Given the description of an element on the screen output the (x, y) to click on. 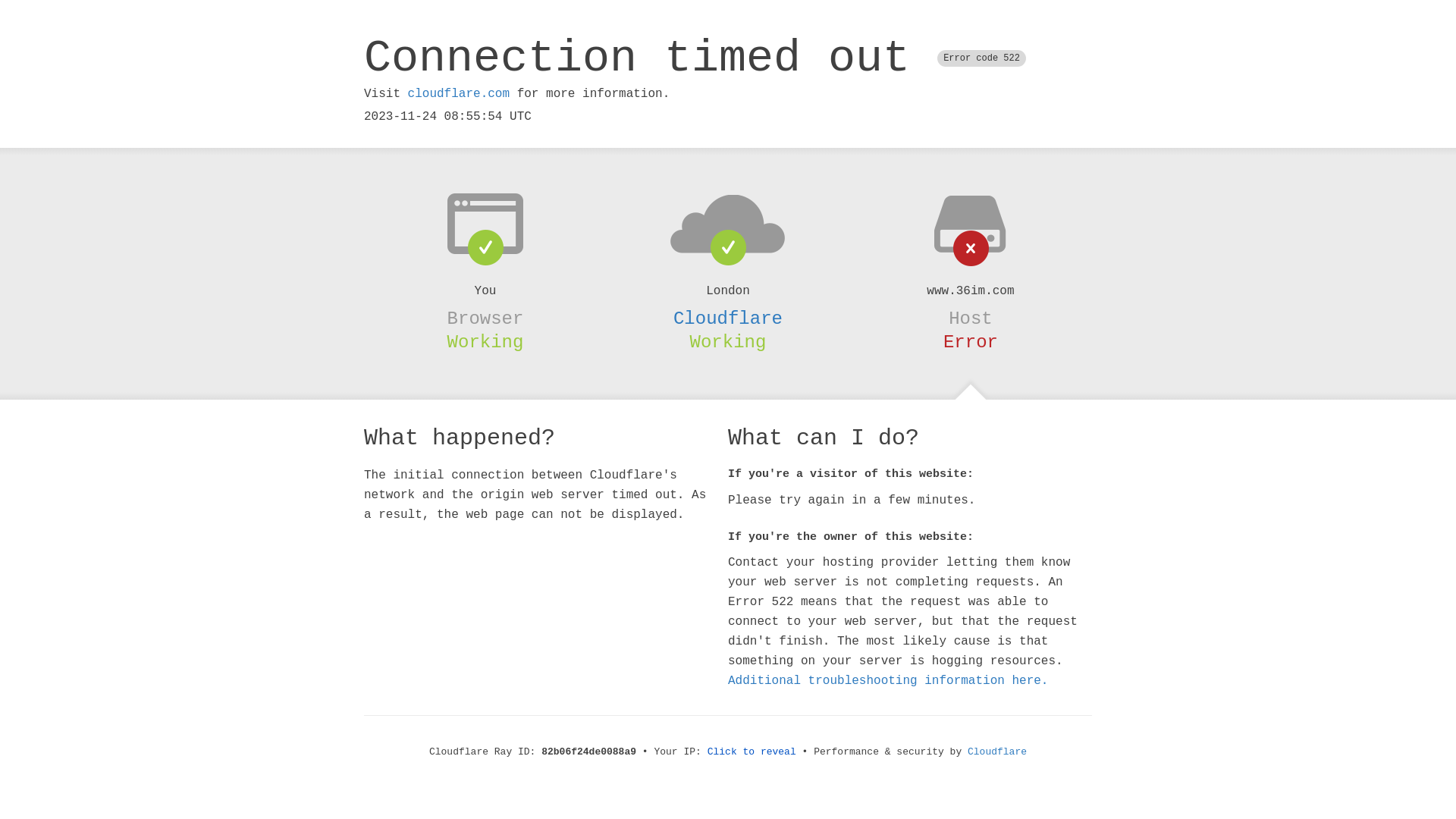
Cloudflare Element type: text (996, 751)
cloudflare.com Element type: text (458, 93)
Additional troubleshooting information here. Element type: text (888, 680)
Click to reveal Element type: text (751, 751)
Cloudflare Element type: text (727, 318)
